Given the description of an element on the screen output the (x, y) to click on. 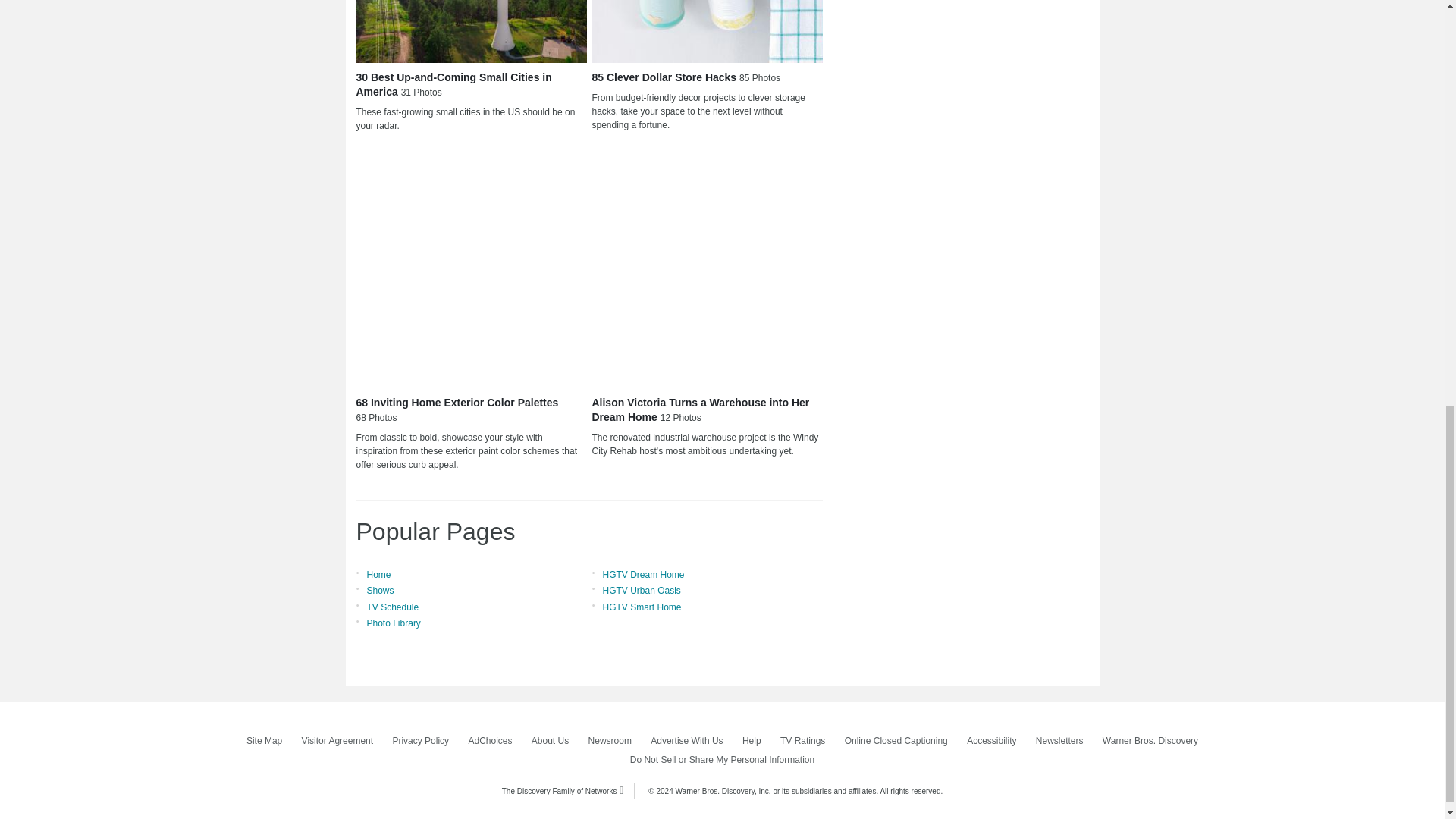
Alison Victoria Turns a Warehouse into Her Dream Home (706, 271)
68 Inviting Home Exterior Color Palettes (472, 271)
30 Best Up-and-Coming Small Cities in America (472, 31)
85 Clever Dollar Store Hacks (706, 31)
